Given the description of an element on the screen output the (x, y) to click on. 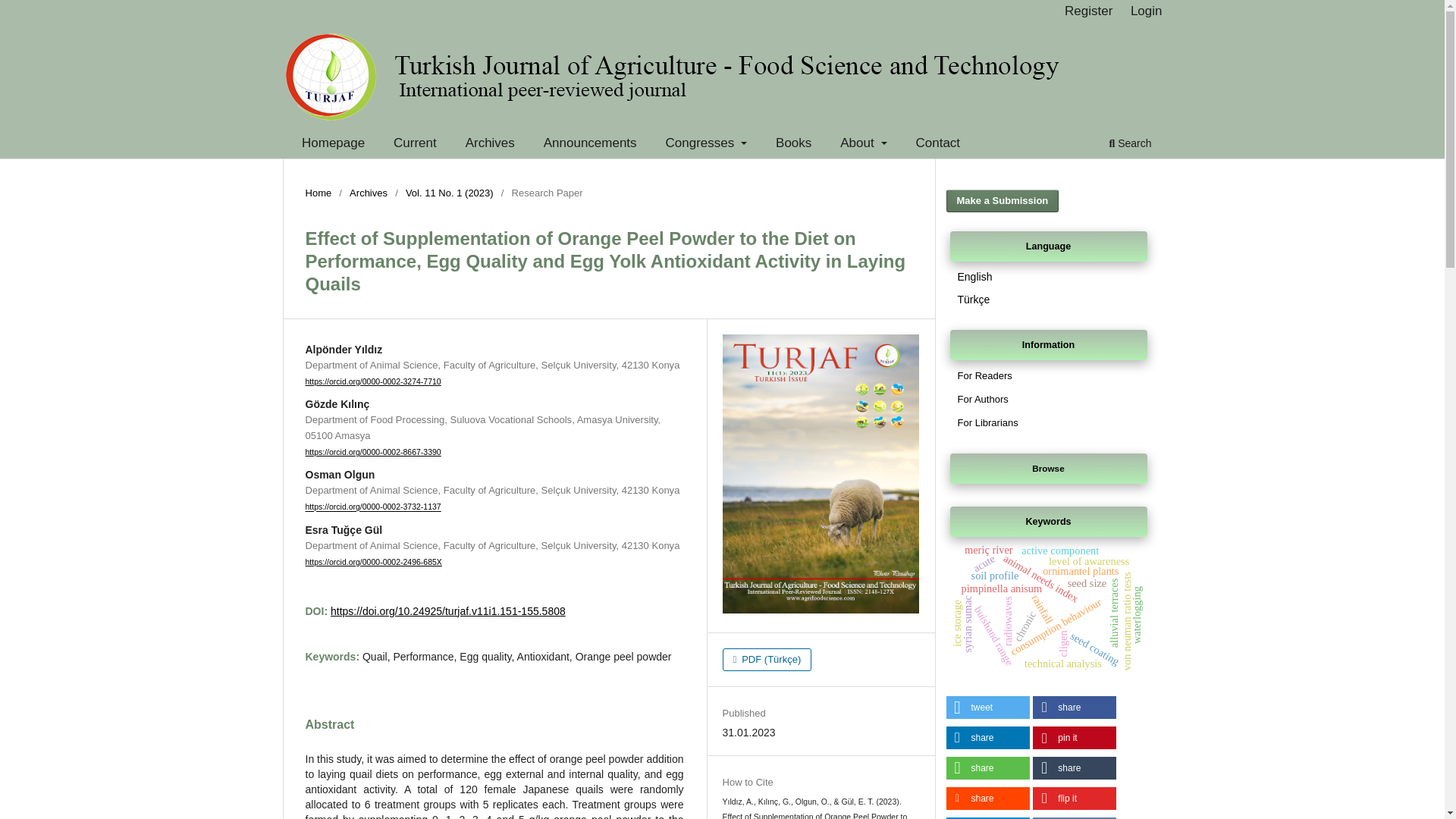
Share on VK (1074, 818)
Register (1088, 11)
Announcements (590, 144)
Login (1146, 11)
Share on LinkedIn (987, 737)
Pin it on Pinterest (1074, 737)
Share on Reddit (987, 798)
Current (415, 144)
Congresses (706, 144)
Share on Telegram (987, 818)
Share on tumblr (1074, 767)
About (863, 144)
Archives (489, 144)
Homepage (333, 144)
Share on Twitter (987, 707)
